Given the description of an element on the screen output the (x, y) to click on. 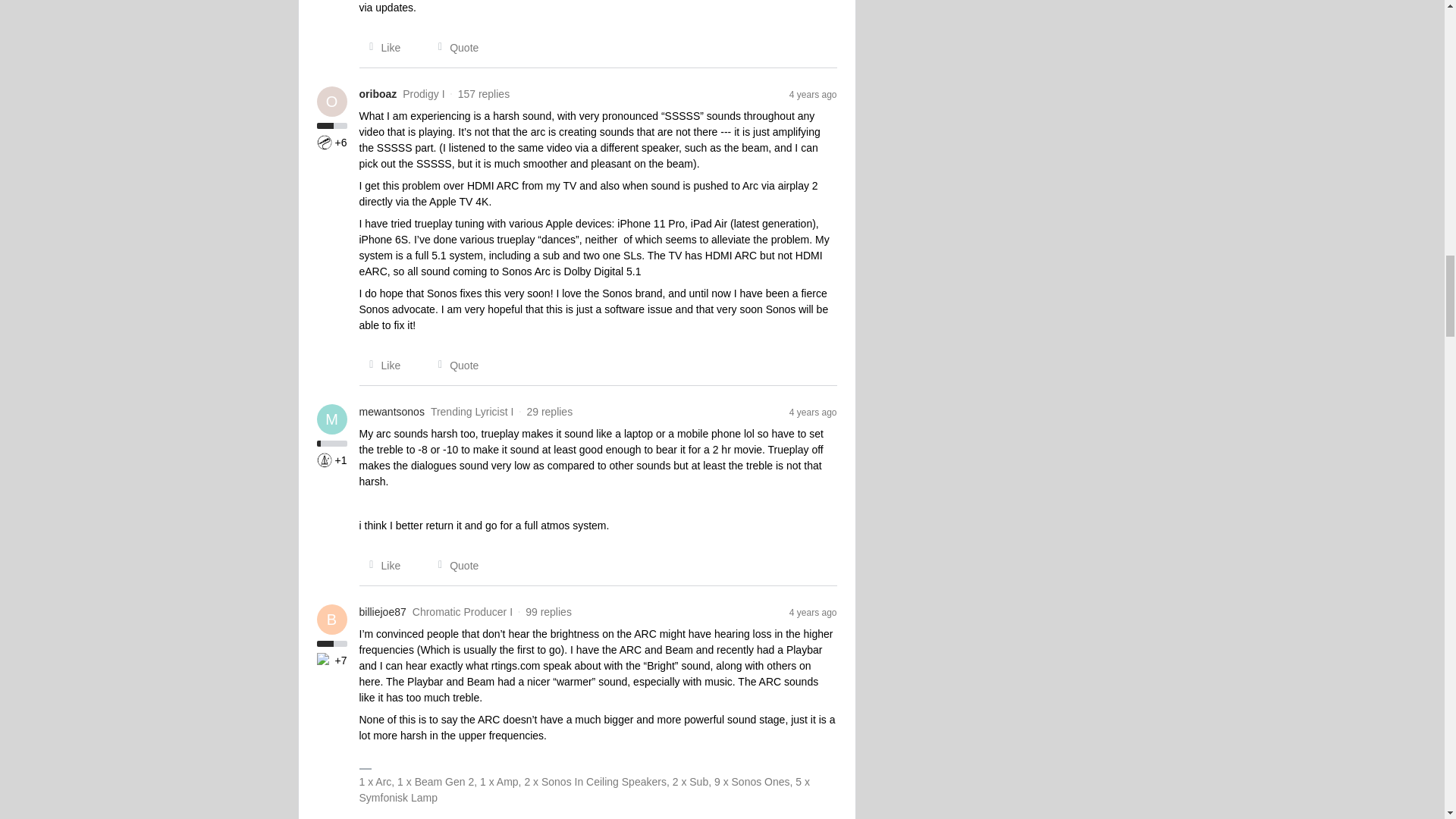
Amping it up I (324, 142)
